Given the description of an element on the screen output the (x, y) to click on. 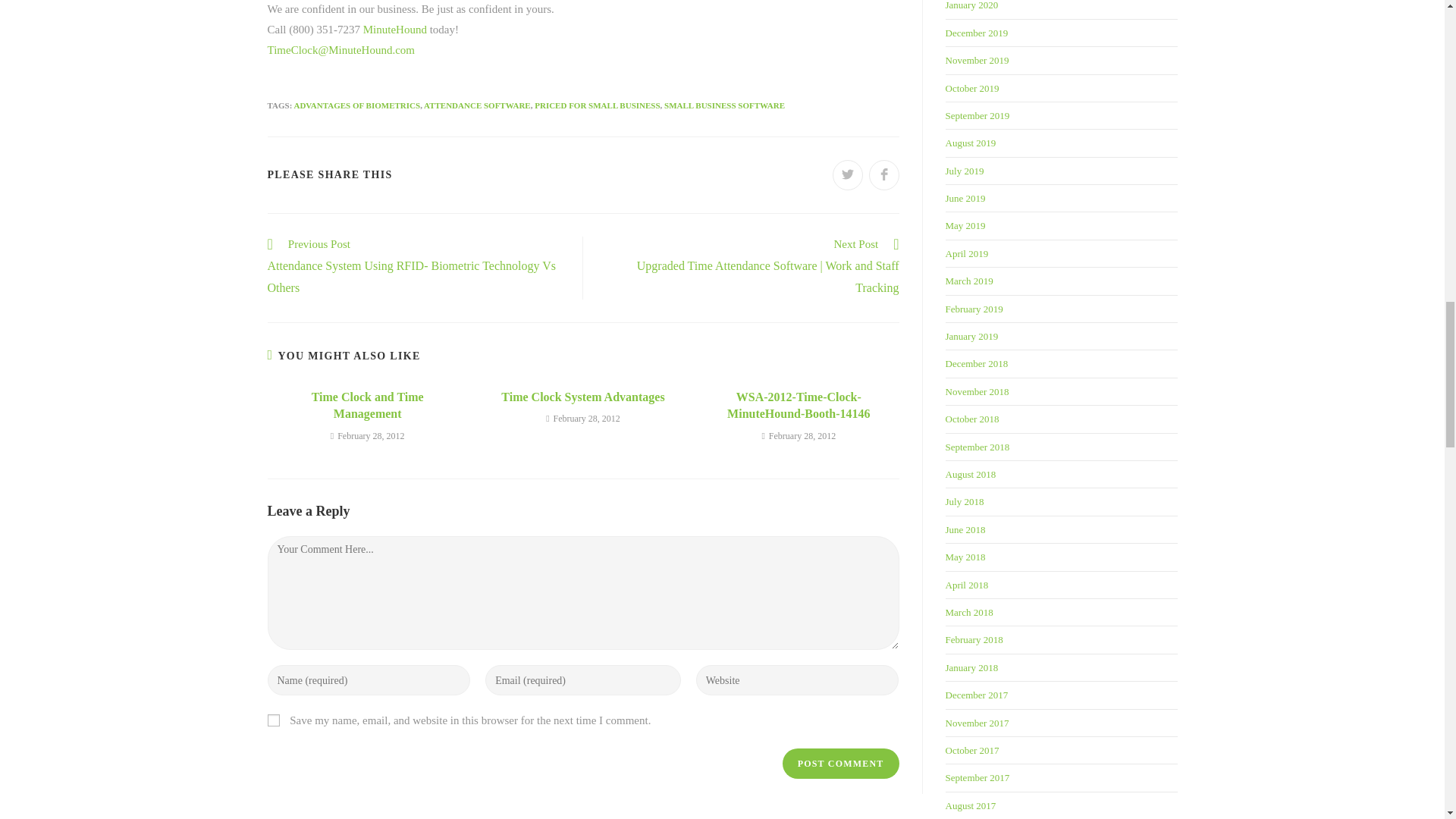
Share on Twitter (847, 174)
Share on Facebook (884, 174)
Post Comment (841, 763)
Time Clock System Advantages (583, 397)
yes (272, 720)
WSA-2012-Time-Clock-MinuteHound-Booth-14146 (798, 406)
Time Clock and Time Management (367, 406)
